Given the description of an element on the screen output the (x, y) to click on. 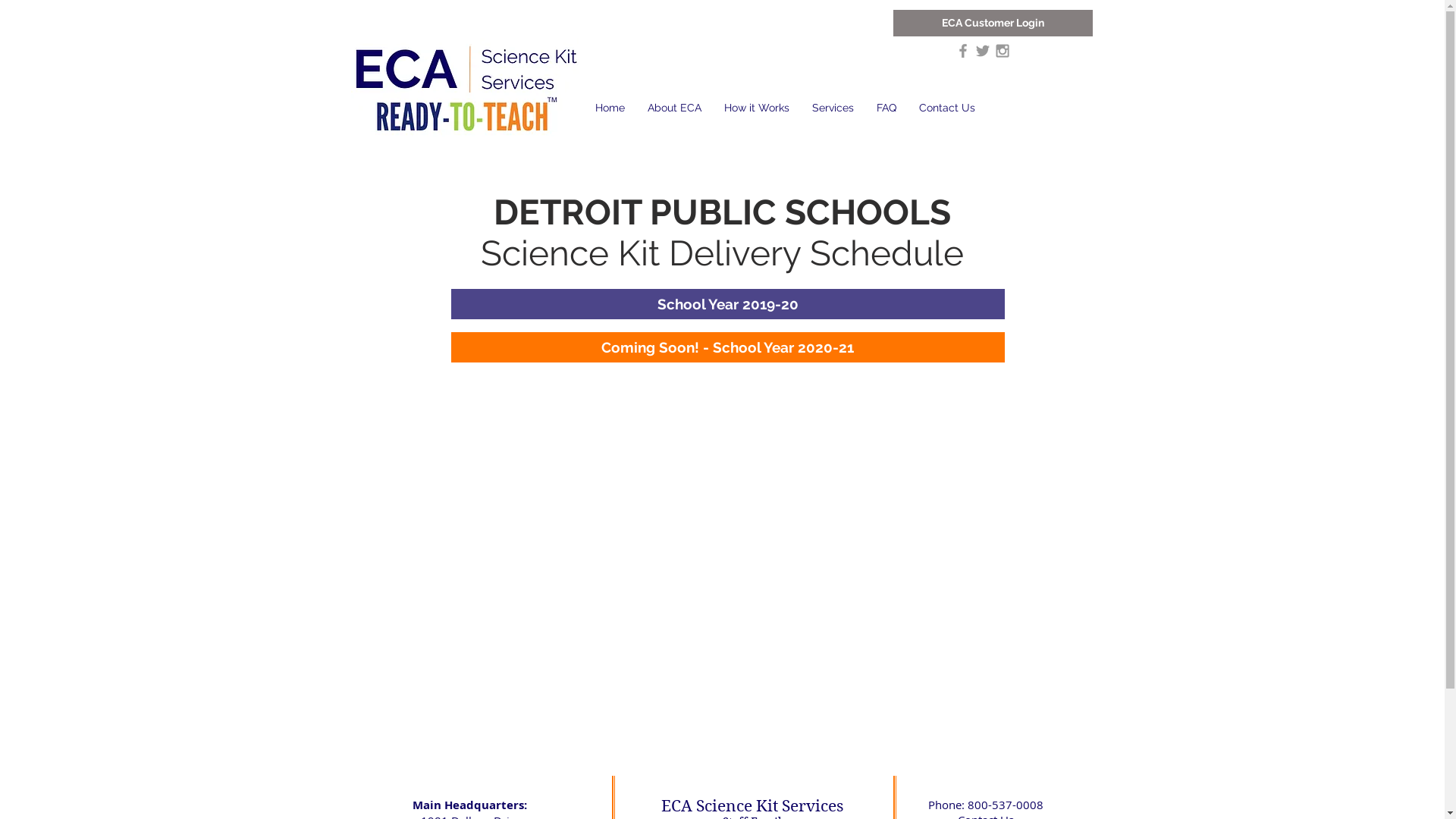
FAQ Element type: text (885, 107)
Contact Us Element type: text (945, 107)
ECA Science Kit Services Element type: text (752, 806)
How it Works Element type: text (756, 107)
ECA Customer Login Element type: text (992, 22)
ECA Science Kit Services Element type: hover (463, 87)
School Year 2019-20 Element type: text (727, 303)
Home Element type: text (609, 107)
